Given the description of an element on the screen output the (x, y) to click on. 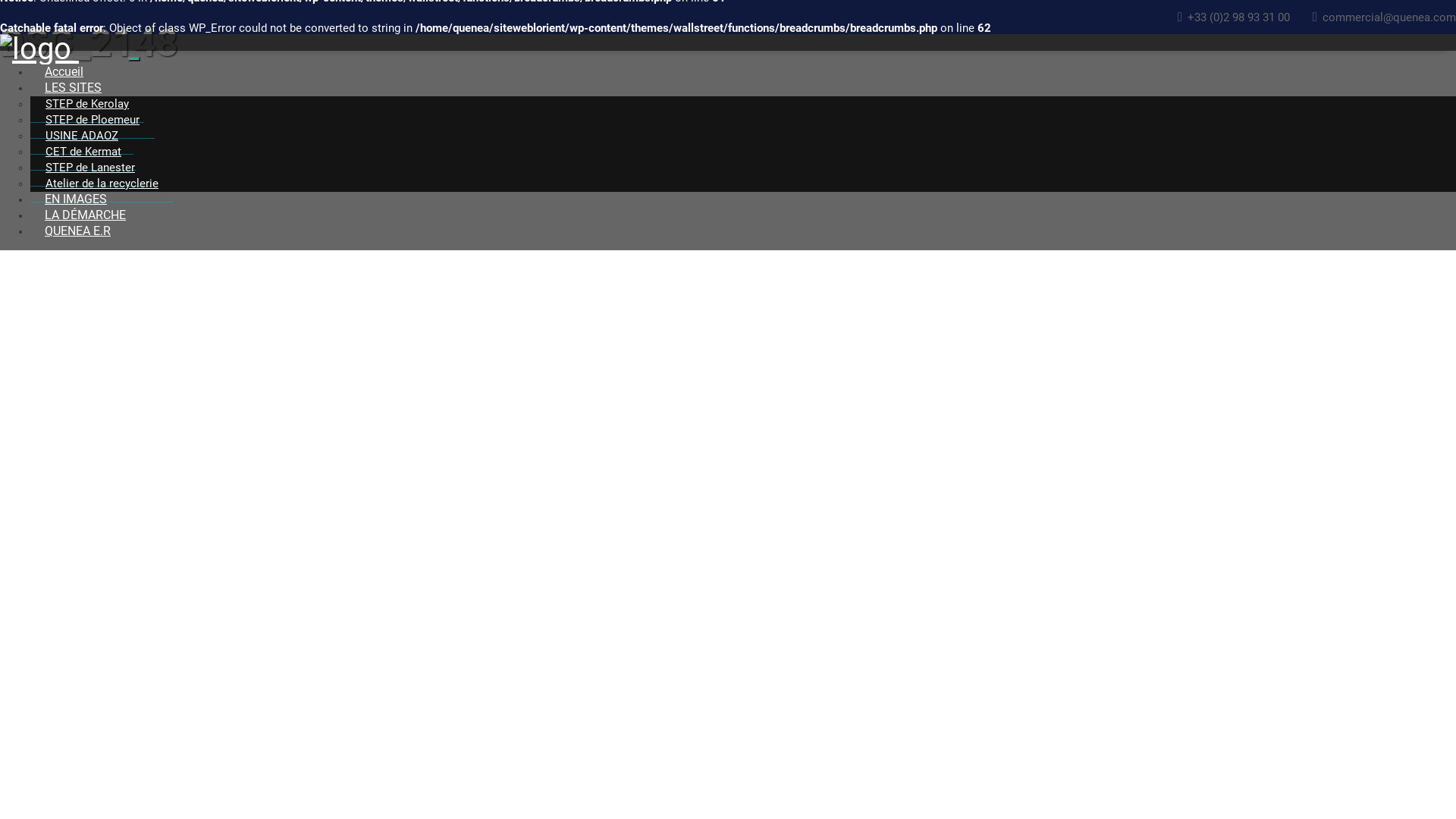
USINE ADAOZ Element type: text (81, 135)
Toggle navigation Element type: text (134, 58)
EN IMAGES Element type: text (75, 198)
LES SITES Element type: text (73, 87)
STEP de Kerolay Element type: text (87, 103)
CET de Kermat Element type: text (83, 151)
Accueil Element type: text (63, 71)
STEP de Lanester Element type: text (90, 167)
Atelier de la recyclerie Element type: text (101, 183)
QUENEA E.R Element type: text (77, 230)
STEP de Ploemeur Element type: text (92, 119)
